Given the description of an element on the screen output the (x, y) to click on. 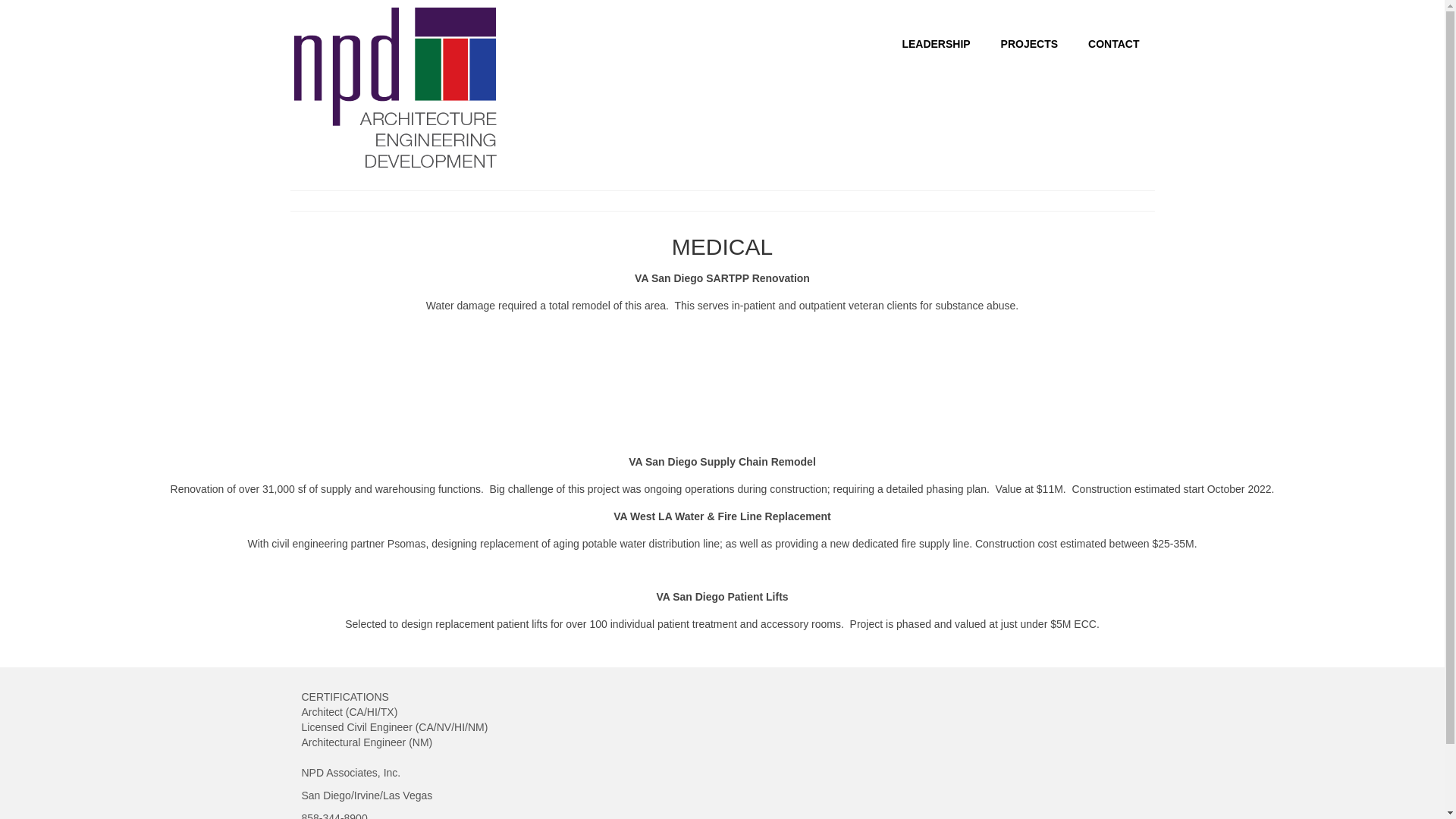
LEADERSHIP (935, 43)
PROJECTS (1029, 43)
NPDinc (398, 89)
CONTACT (1113, 43)
